Given the description of an element on the screen output the (x, y) to click on. 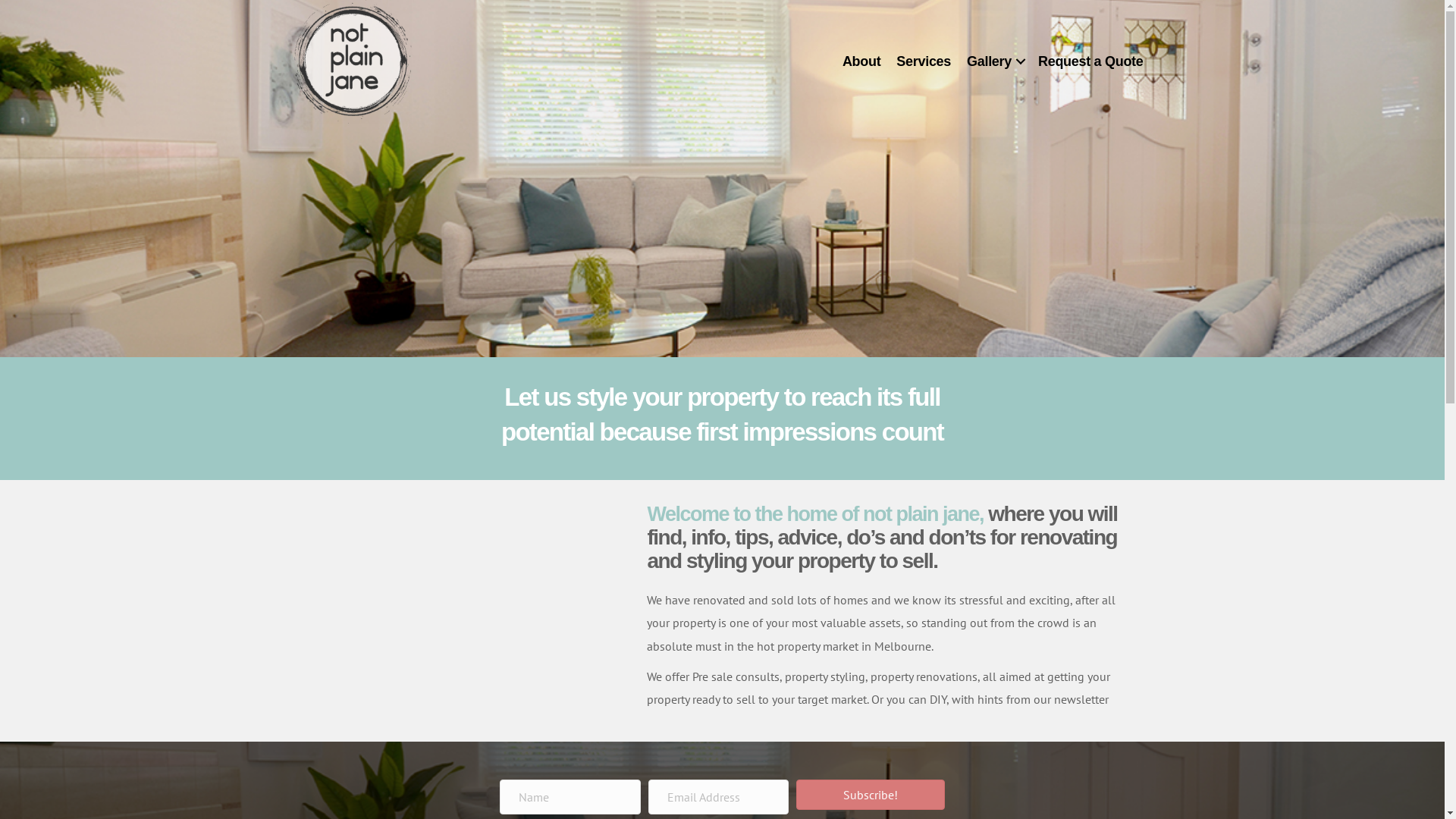
Request a Quote Element type: text (1090, 61)
Subscribe! Element type: text (870, 794)
Gallery Element type: text (994, 61)
Not Plain Jane Logo Black Trans220px Element type: hover (352, 61)
About Element type: text (861, 61)
Services Element type: text (923, 61)
